Given the description of an element on the screen output the (x, y) to click on. 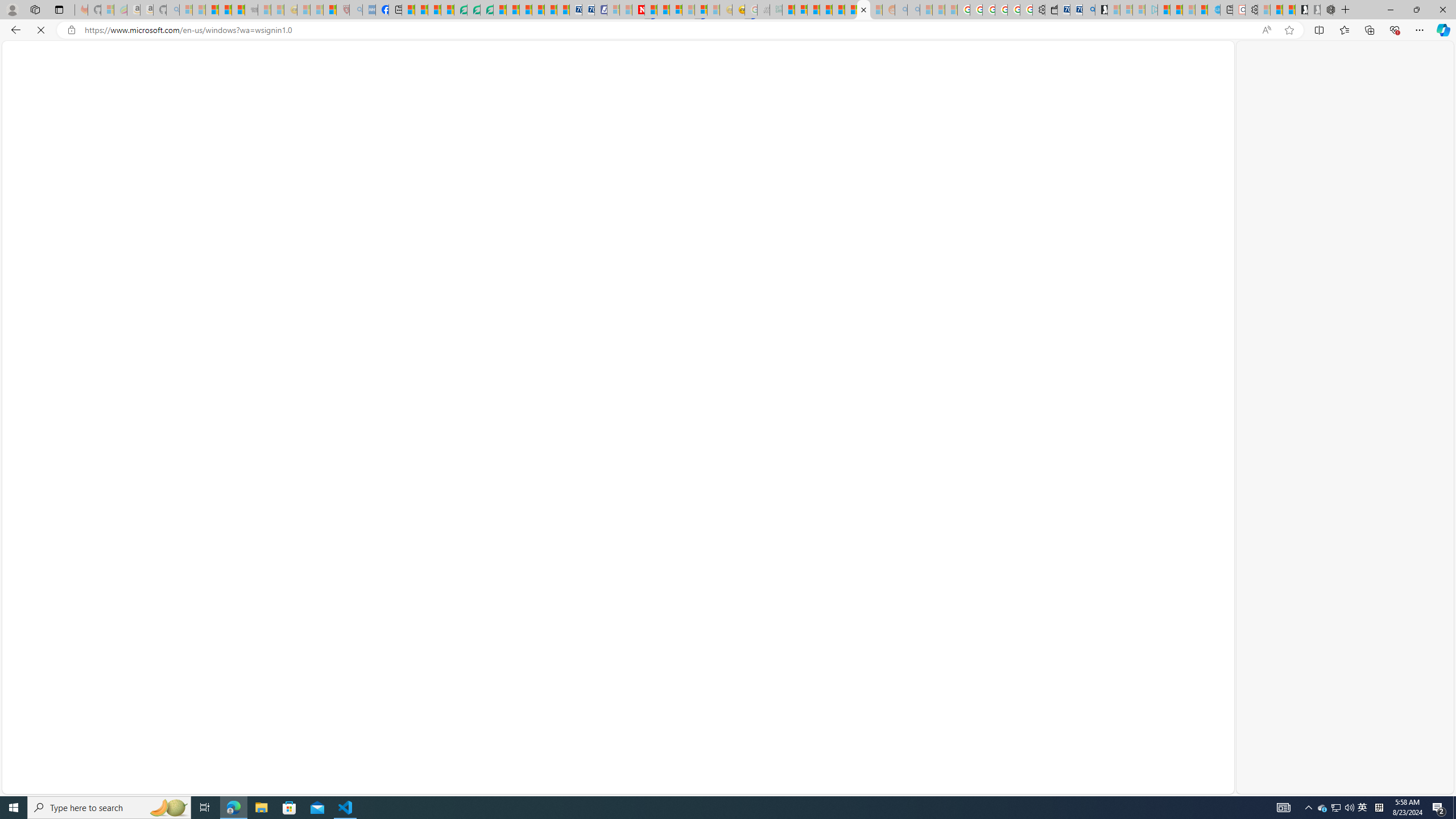
New Report Confirms 2023 Was Record Hot | Watch (237, 9)
